Given the description of an element on the screen output the (x, y) to click on. 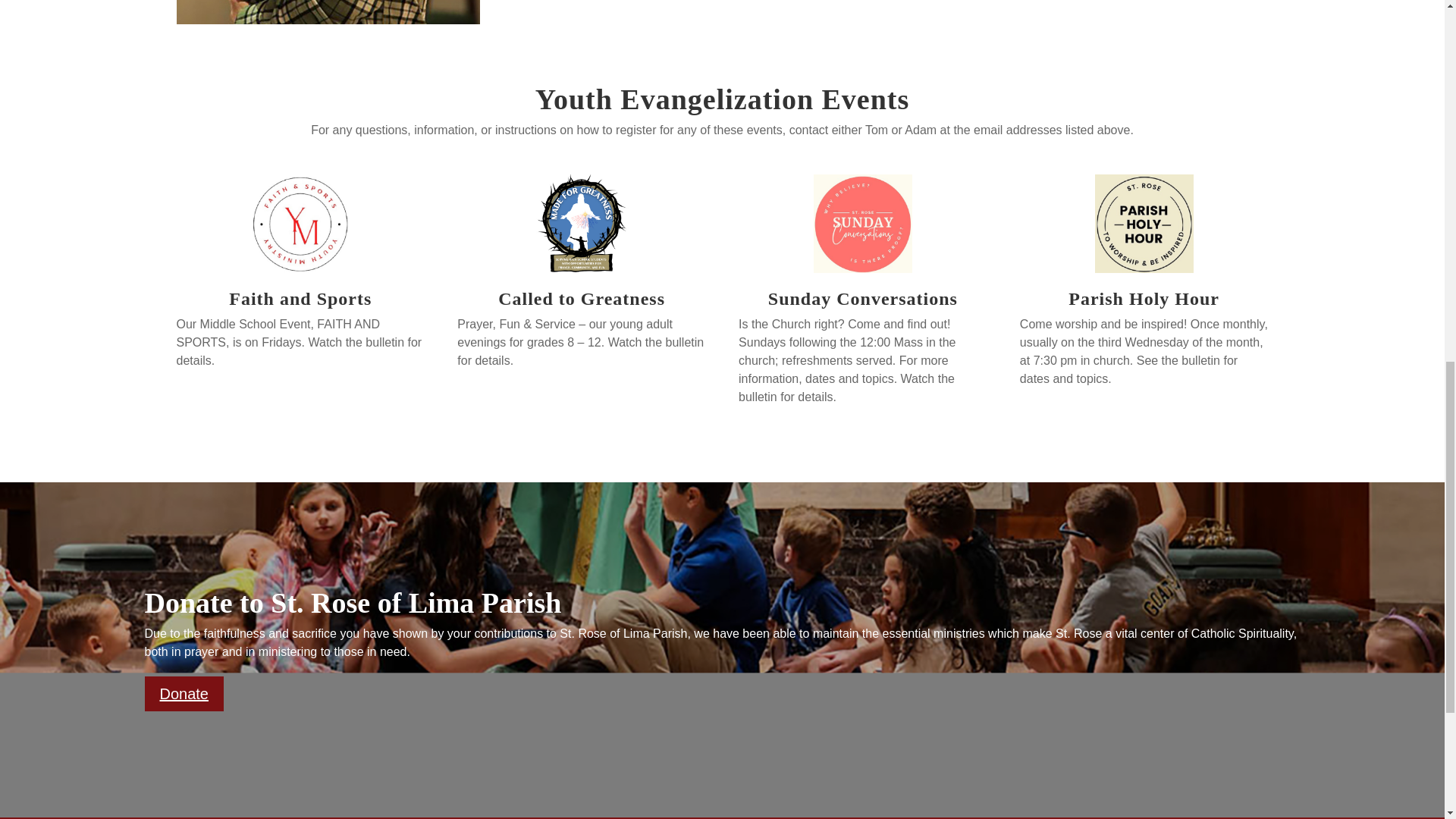
st-rose-of-lima-rc-church-faith-and-sports-logo (299, 223)
st-rose-of-lima-rc-church-made-for-greatness-logo (581, 223)
st-rose-of-lima-parish-staff-tom-griffin (327, 12)
st-rose-of-lima-rc-church-parish-holy-hour-logo (1143, 223)
st-rose-of-lima-rc-church-sunday-conversations-logo (862, 223)
